Given the description of an element on the screen output the (x, y) to click on. 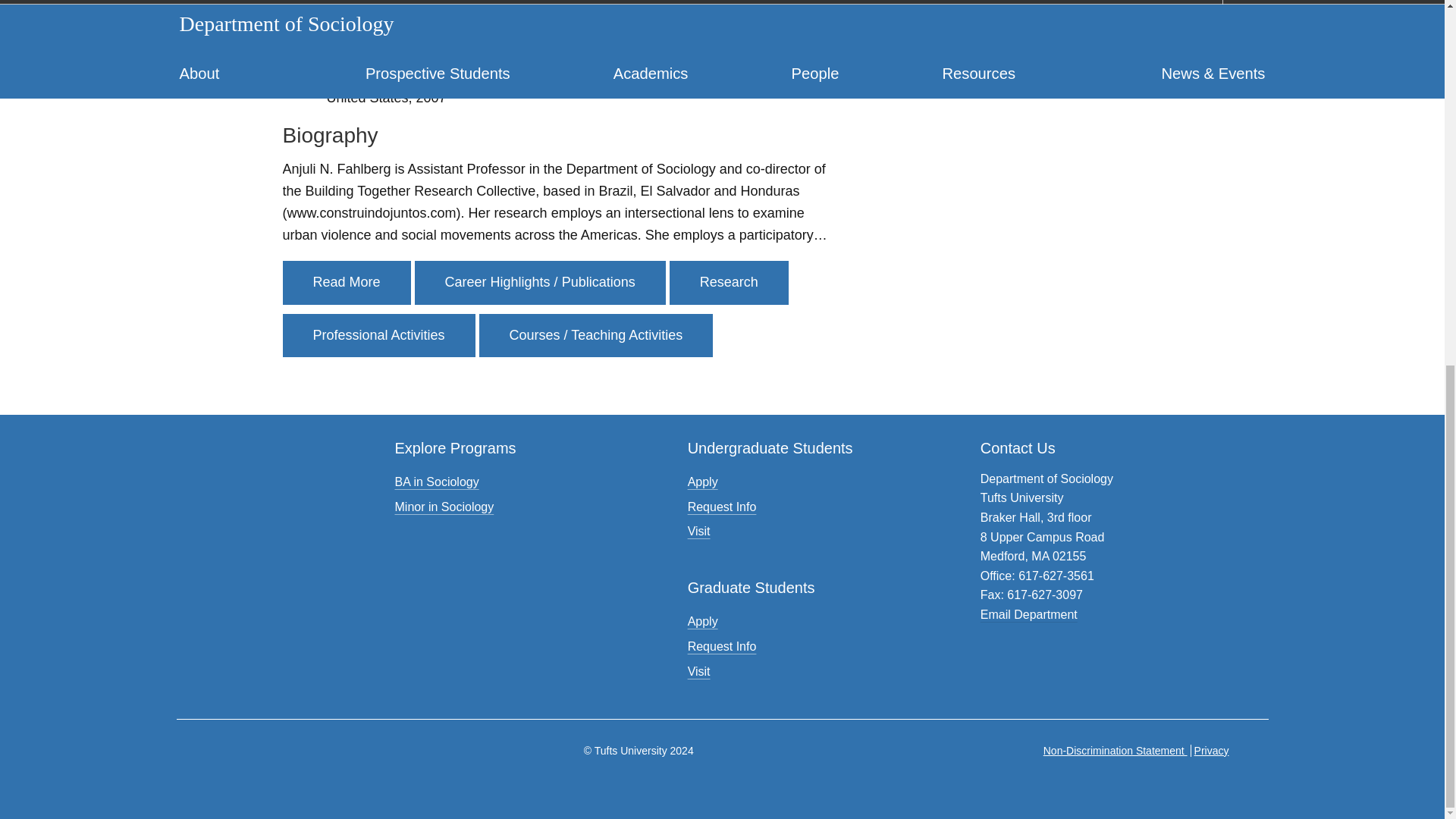
Email Department (1028, 614)
